Given the description of an element on the screen output the (x, y) to click on. 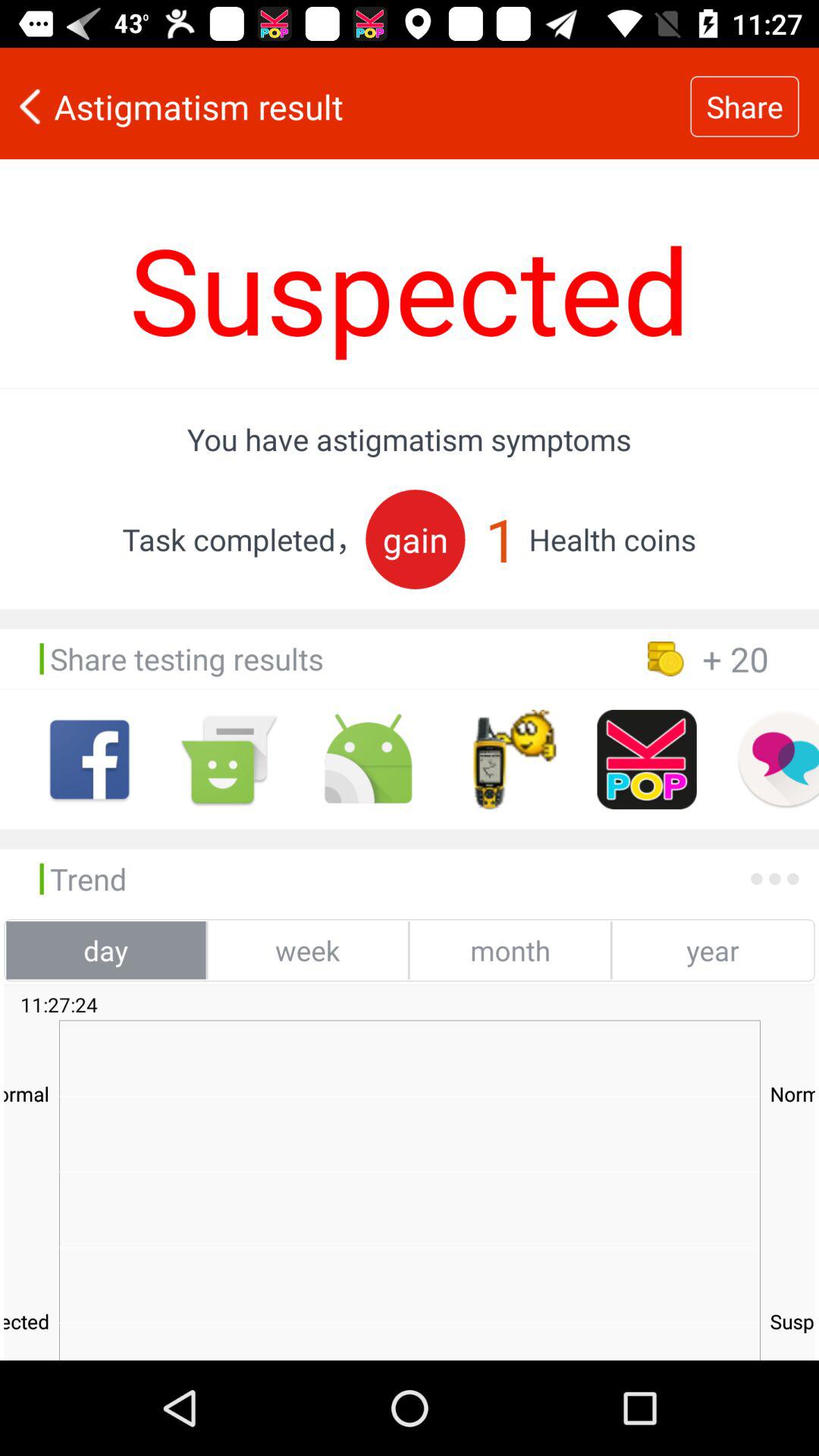
tap item next to 1 item (415, 539)
